Given the description of an element on the screen output the (x, y) to click on. 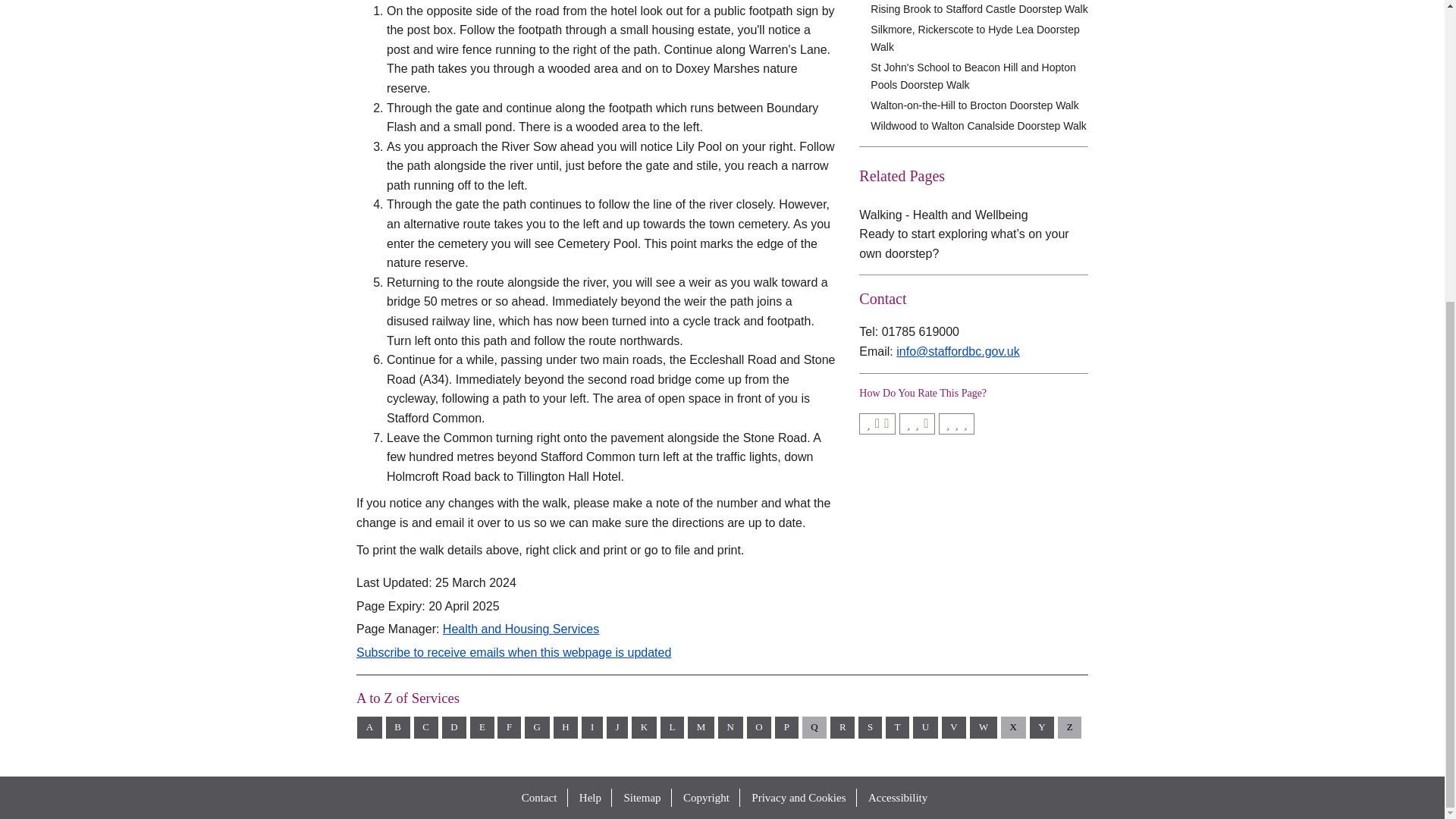
Rising Brook to Stafford Castle Doorstep Walk (978, 8)
Walking - Health and Wellbeing (943, 214)
E (481, 727)
Subscribe to receive emails when this webpage is updated (513, 652)
Walton-on-the-Hill to Brocton Doorstep Walk (978, 105)
F (509, 727)
Silkmore, Rickerscote to Hyde Lea Doorstep Walk (978, 38)
B (397, 727)
C (425, 727)
